Given the description of an element on the screen output the (x, y) to click on. 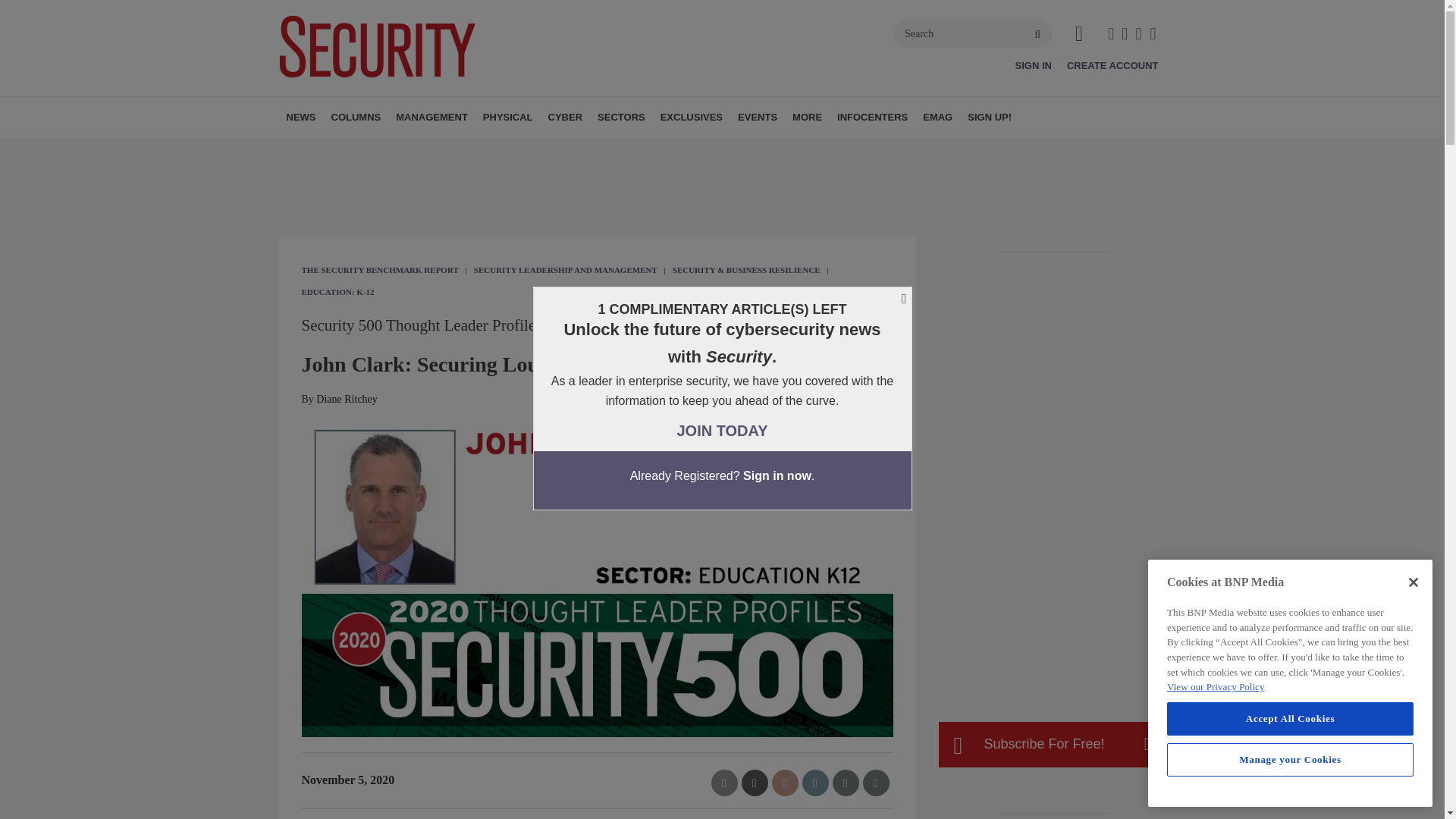
Search (972, 33)
Search (972, 33)
